Given the description of an element on the screen output the (x, y) to click on. 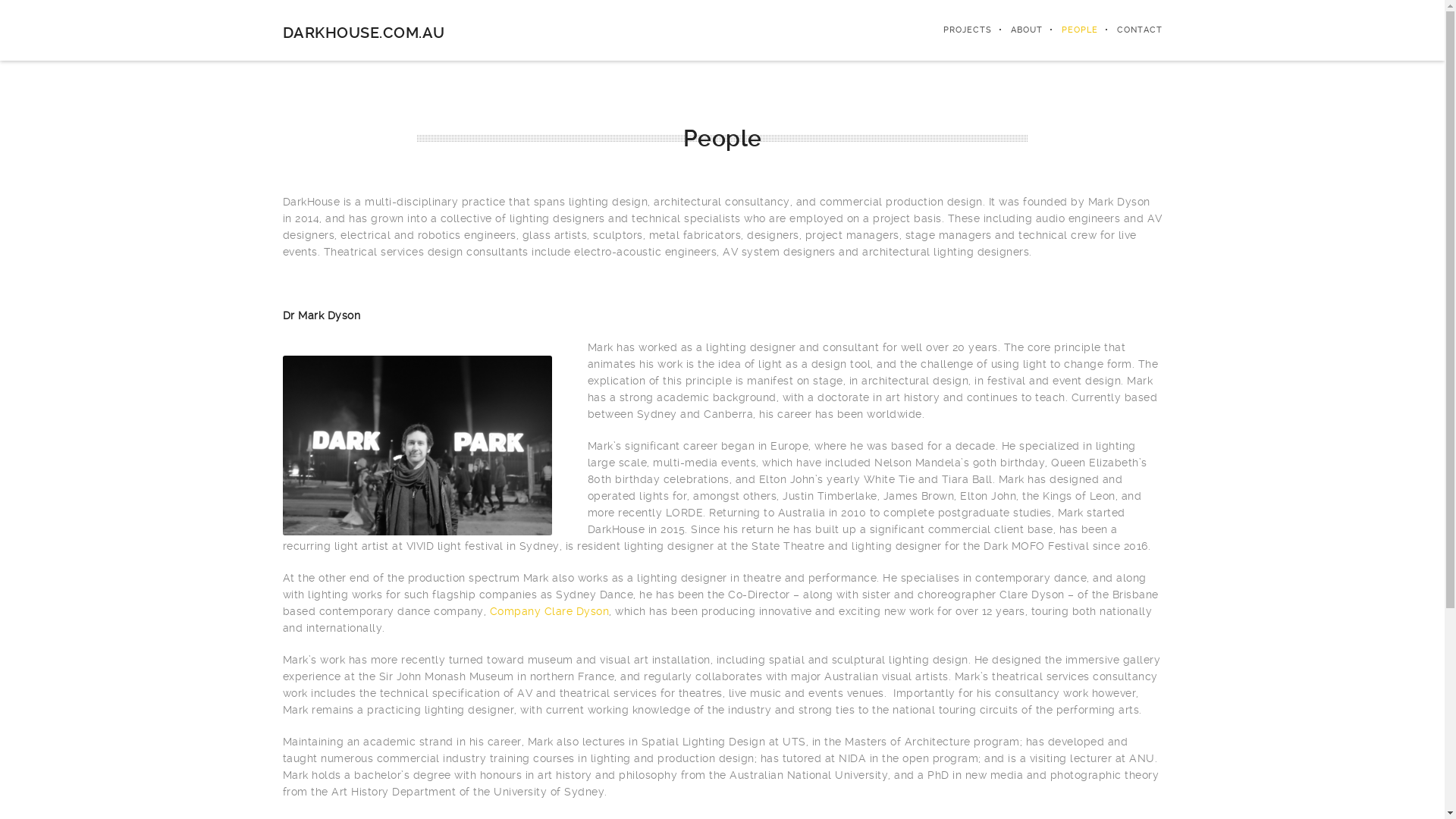
ABOUT Element type: text (1016, 30)
DARKHOUSE.COM.AU Element type: text (363, 32)
CONTACT Element type: text (1130, 30)
Company Clare Dyson Element type: text (549, 611)
PEOPLE Element type: text (1069, 30)
  Element type: text (283, 347)
PROJECTS Element type: text (957, 30)
